Given the description of an element on the screen output the (x, y) to click on. 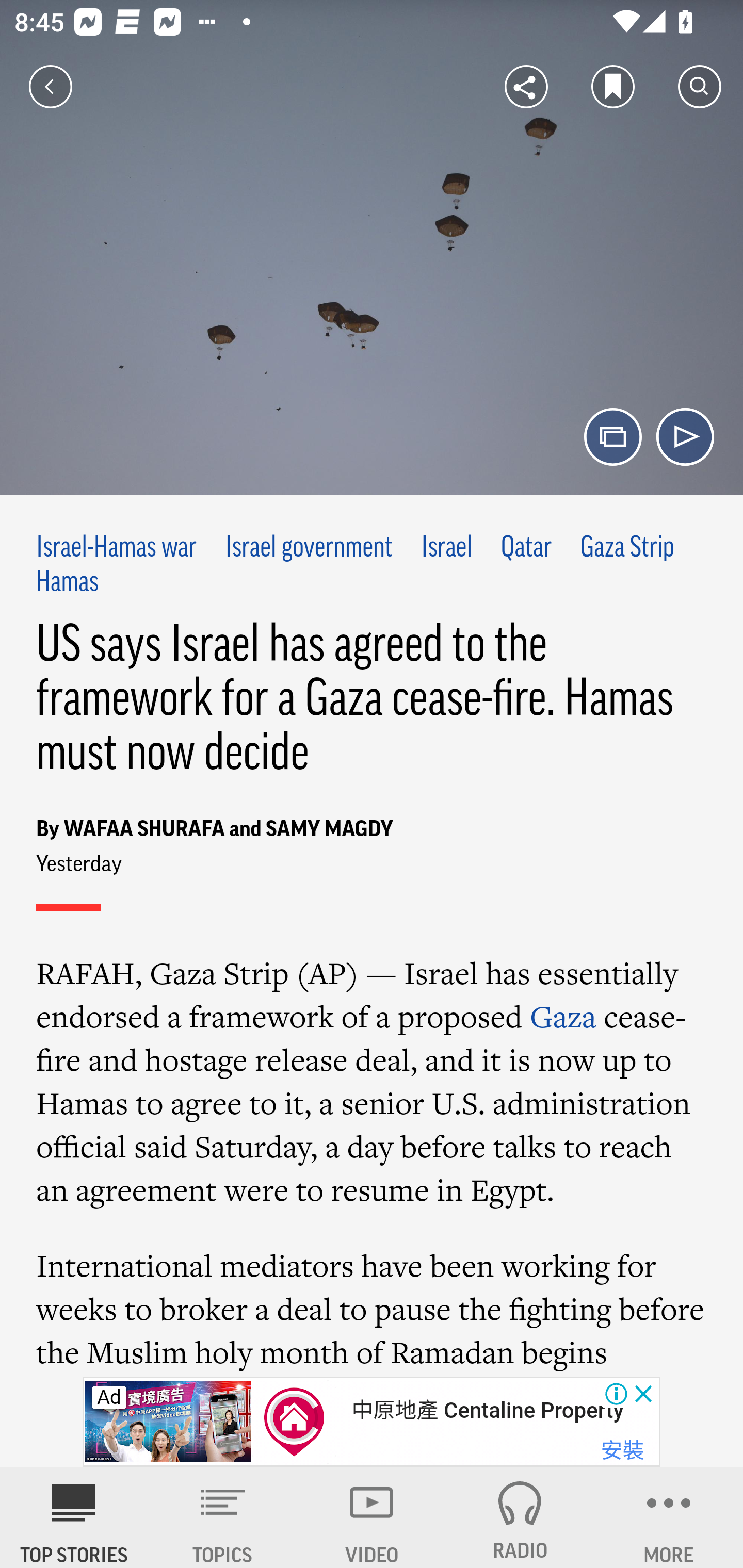
Israel-Hamas war (117, 548)
Israel government (308, 548)
Israel (446, 548)
Qatar (526, 548)
Gaza Strip (627, 548)
Hamas (67, 582)
Gaza (563, 1016)
中原地產 Centaline Property (486, 1410)
安裝 (621, 1450)
AP News TOP STORIES (74, 1517)
TOPICS (222, 1517)
VIDEO (371, 1517)
RADIO (519, 1517)
MORE (668, 1517)
